Given the description of an element on the screen output the (x, y) to click on. 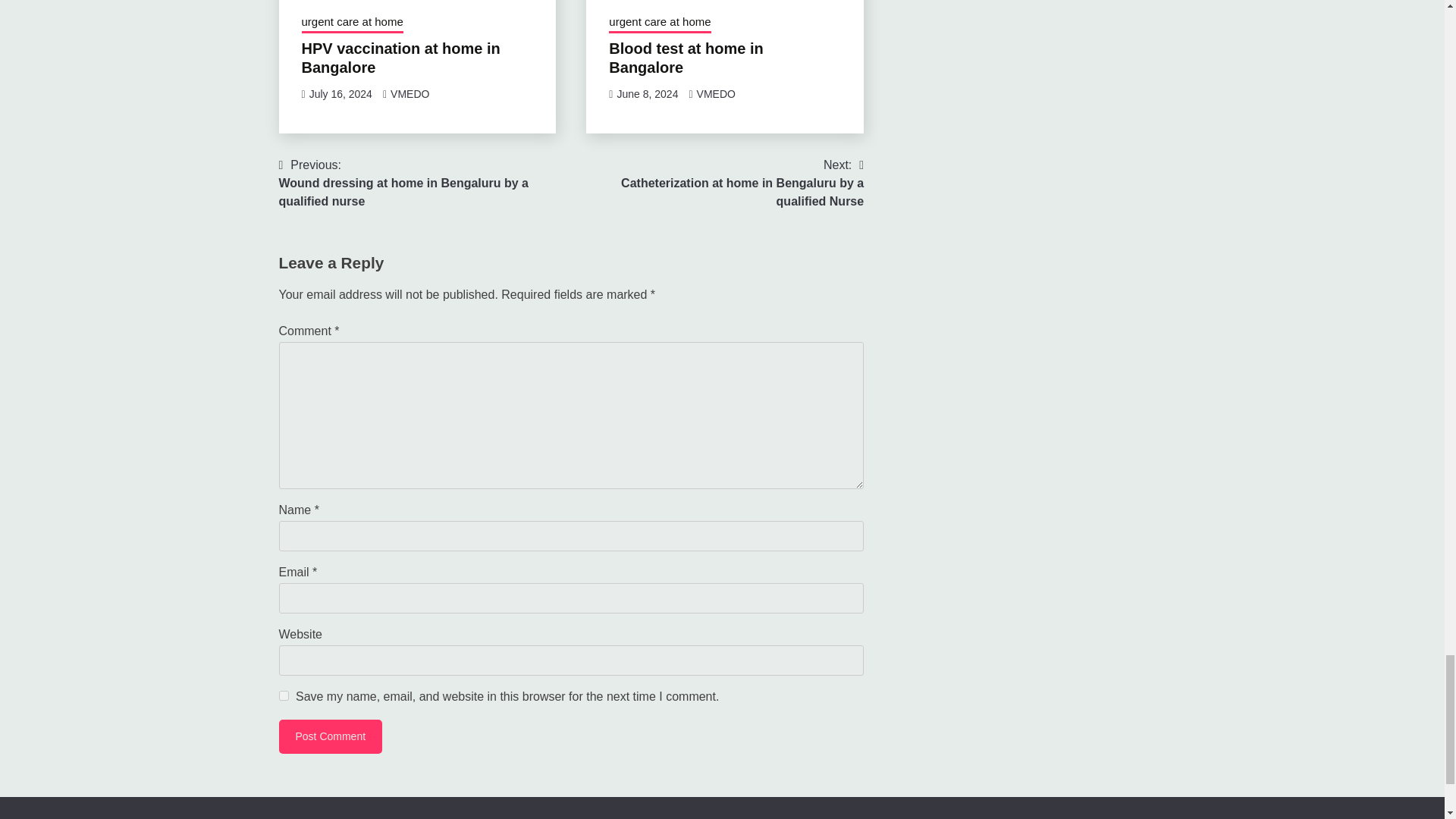
VMEDO (409, 93)
July 16, 2024 (340, 93)
Post Comment (330, 736)
HPV vaccination at home in Bangalore (400, 58)
Blood test at home in Bangalore (685, 58)
urgent care at home (352, 23)
urgent care at home (659, 23)
VMEDO (716, 93)
yes (283, 696)
June 8, 2024 (646, 93)
